Given the description of an element on the screen output the (x, y) to click on. 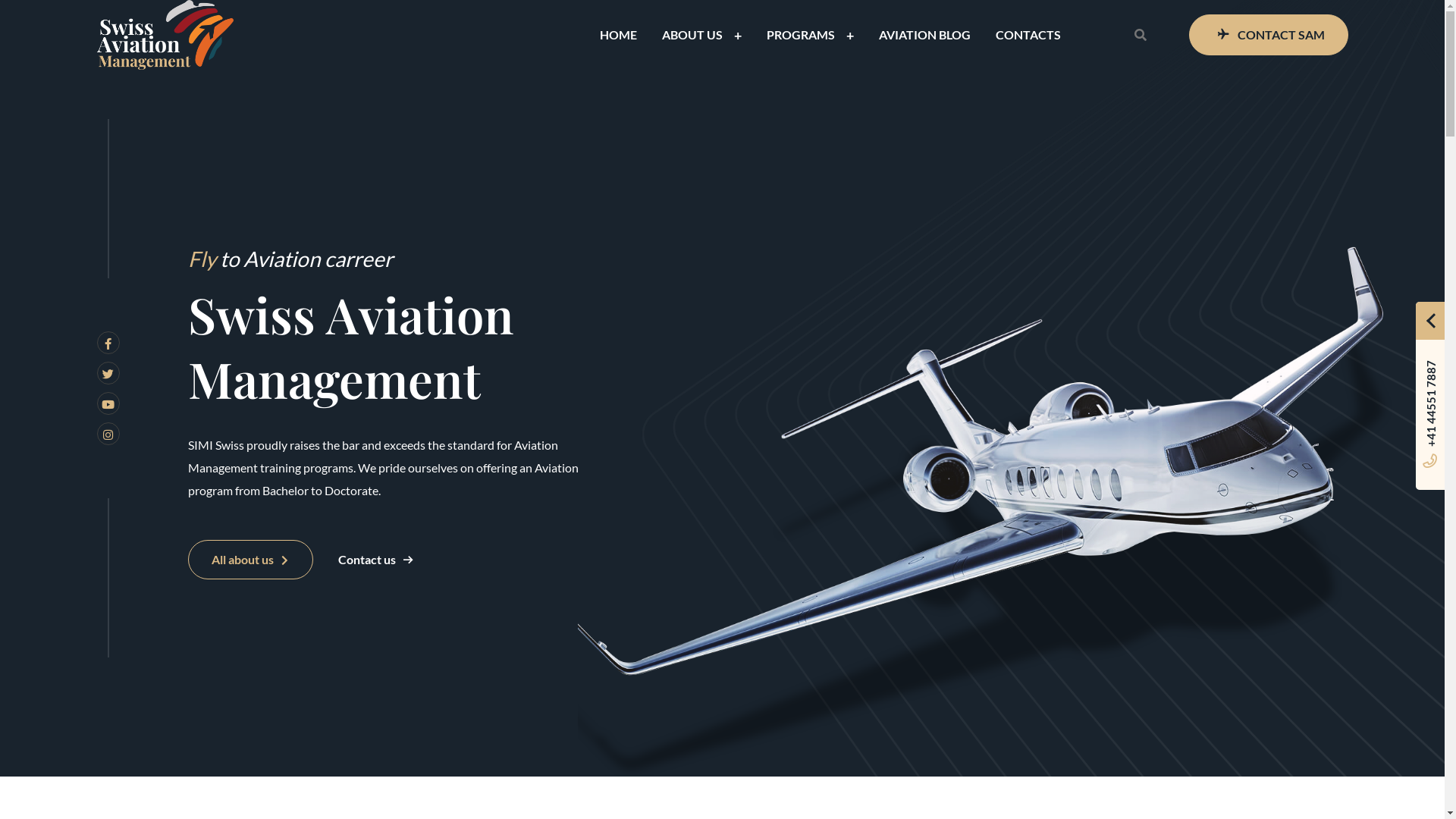
CONTACT SAM Element type: text (1268, 34)
All about us Element type: text (250, 559)
CONTACTS Element type: text (1027, 34)
Contact us Element type: text (376, 559)
AVIATION BLOG Element type: text (923, 34)
HOME Element type: text (617, 34)
PROGRAMS Element type: text (799, 34)
ABOUT US Element type: text (691, 34)
